Given the description of an element on the screen output the (x, y) to click on. 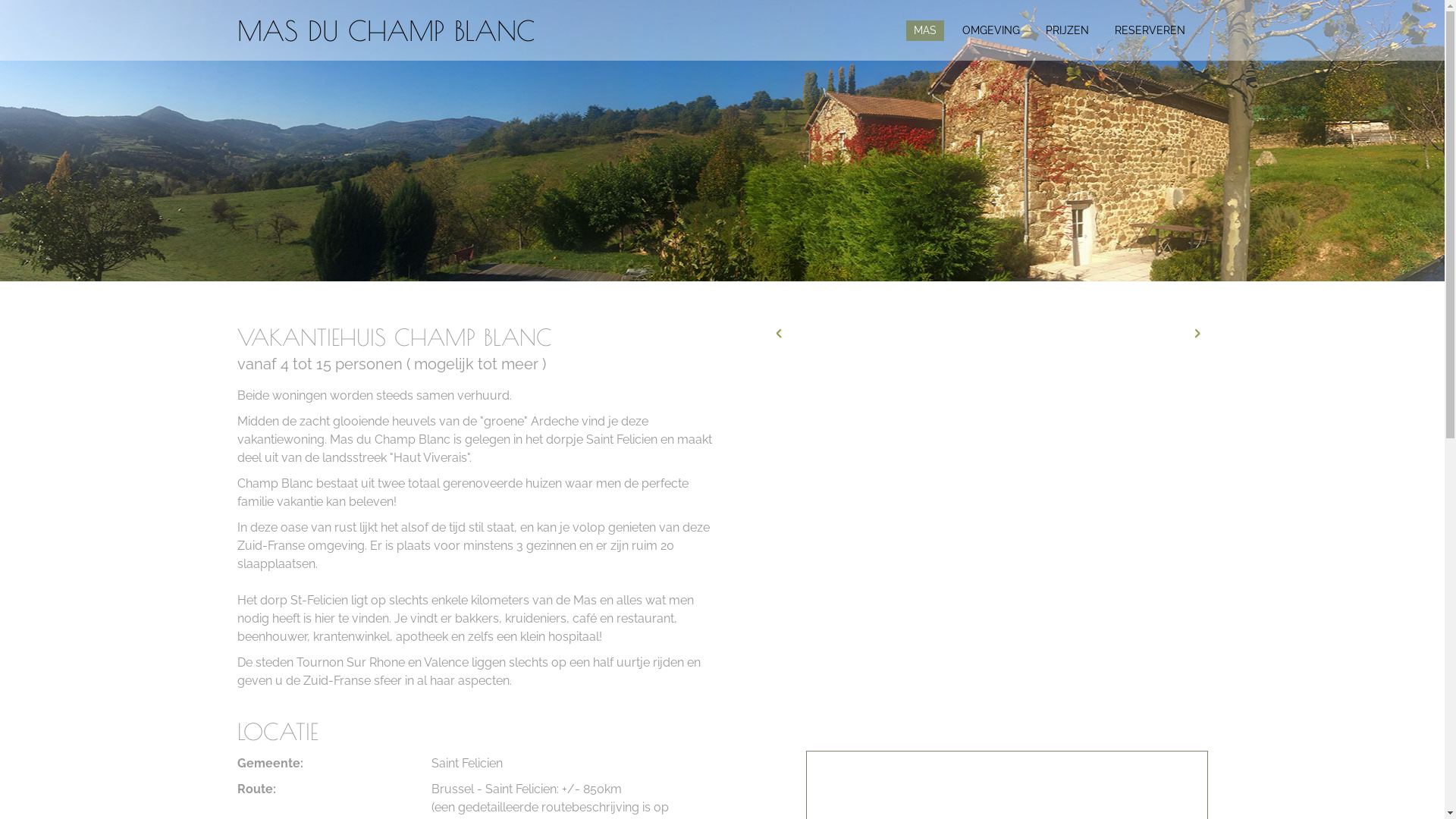
OMGEVING Element type: text (989, 30)
PRIJZEN Element type: text (1066, 30)
RESERVEREN Element type: text (1149, 30)
MAS Element type: text (924, 30)
